Given the description of an element on the screen output the (x, y) to click on. 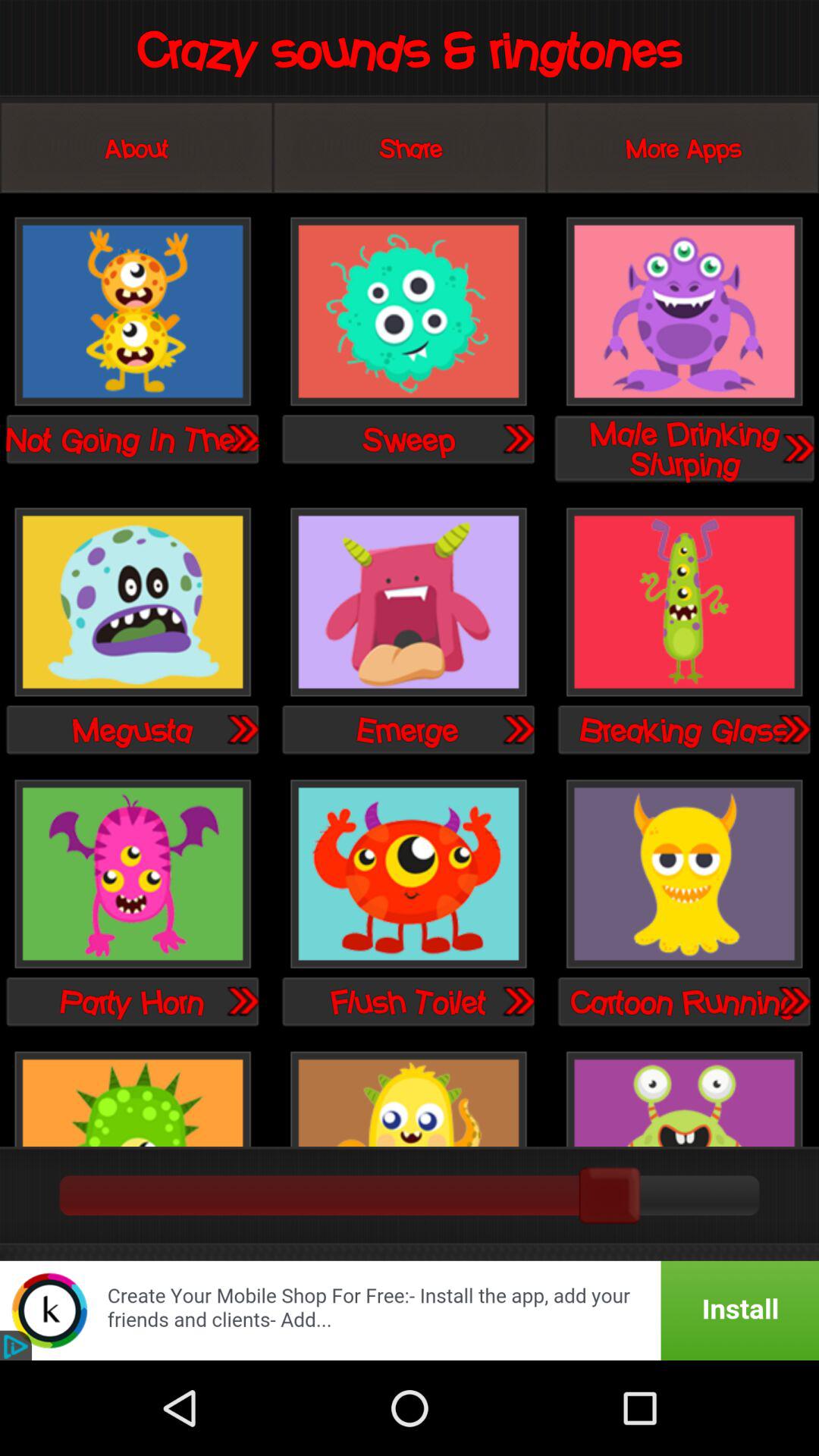
icon (684, 874)
